Given the description of an element on the screen output the (x, y) to click on. 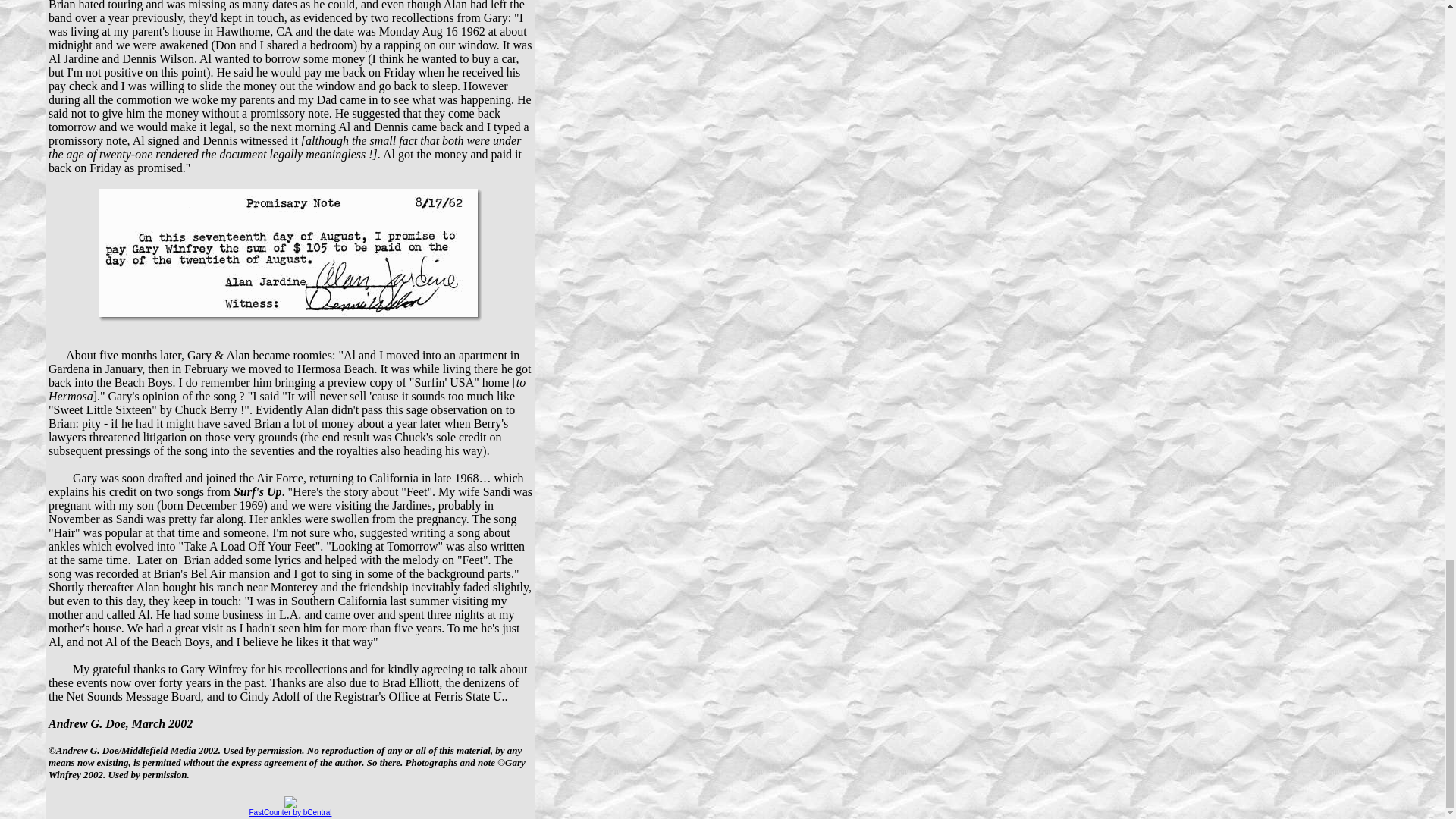
FastCounter by bCentral (289, 812)
